Given the description of an element on the screen output the (x, y) to click on. 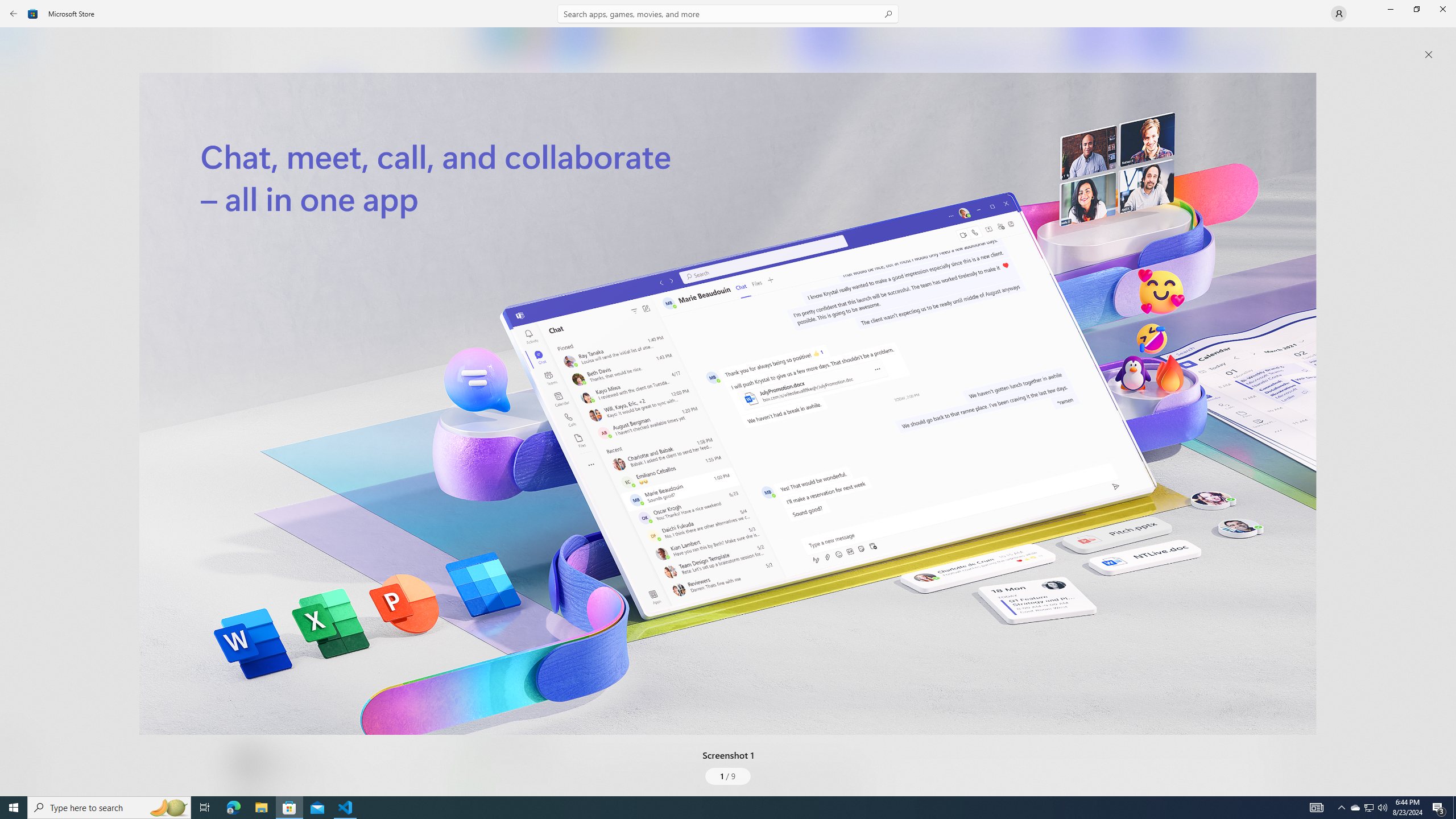
Sign in to review (501, 379)
Screenshot 1 (727, 403)
Productivity (329, 426)
Class: Image (727, 403)
Search (727, 13)
Screenshot 3 (1201, 46)
Gaming (20, 115)
Share (424, 769)
2.6 stars. Click to skip to ratings and reviews (307, 309)
Close Microsoft Store (1442, 9)
close popup window (1428, 54)
Library (20, 773)
Show all ratings and reviews (1253, 281)
AutomationID: NavigationControl (728, 398)
Show more (485, 793)
